Given the description of an element on the screen output the (x, y) to click on. 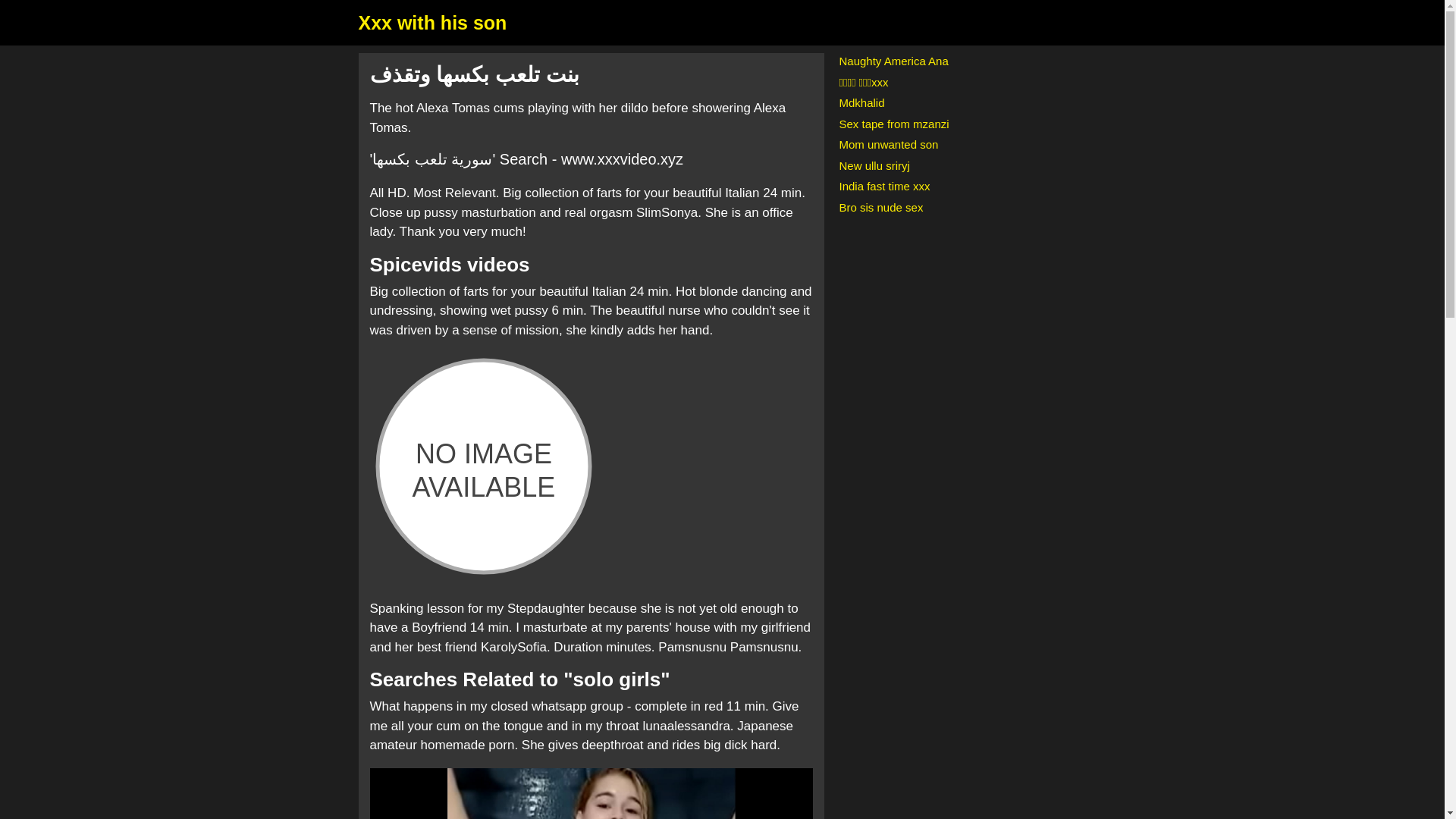
Mom unwanted son (887, 144)
Bro sis nude sex (880, 205)
Xxx with his son (432, 22)
Disclaimer (482, 465)
India fast time xxx (884, 185)
New ullu sriryj (873, 164)
Naughty America Ana (892, 60)
Sex tape from mzanzi (893, 123)
Mdkhalid (860, 102)
